Given the description of an element on the screen output the (x, y) to click on. 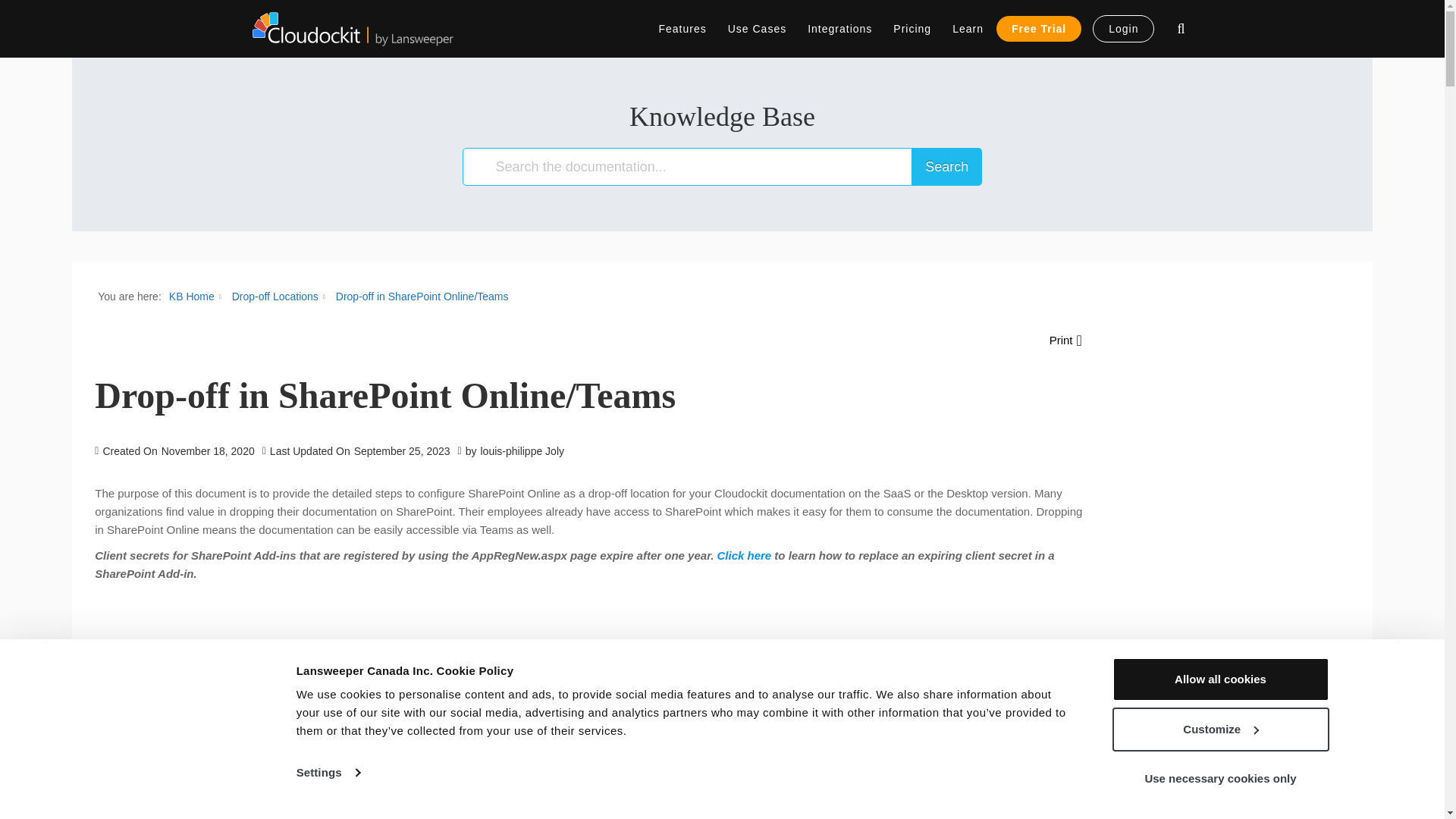
Settings (328, 772)
